Given the description of an element on the screen output the (x, y) to click on. 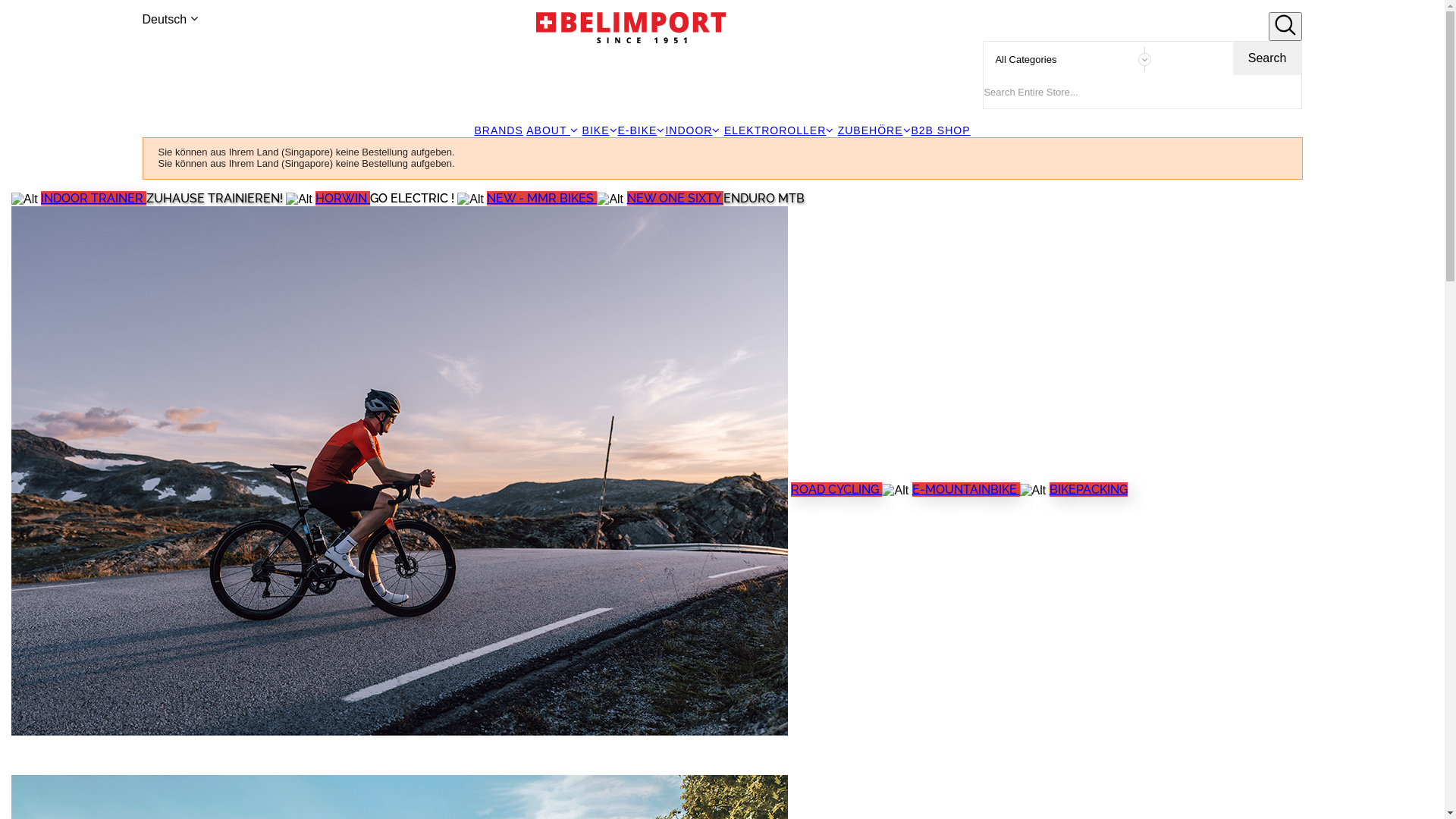
ELEKTROROLLER Element type: text (779, 129)
INDOOR Element type: text (692, 129)
Image Title Element type: hover (894, 490)
Image Title Element type: hover (470, 199)
E-BIKE Element type: text (641, 129)
BIKE Element type: text (600, 129)
BRANDS Element type: text (497, 130)
ABOUT Element type: text (552, 129)
Image Title Element type: hover (609, 199)
BIKEPACKING Element type: text (1088, 489)
E-MOUNTAINBIKE Element type: text (965, 489)
NEW ONE SIXTY Element type: text (674, 198)
Image Title Element type: hover (399, 490)
B2B SHOP Element type: text (940, 130)
NEW - MMR BIKES Element type: text (541, 198)
Search Element type: text (1267, 58)
HORWIN Element type: text (342, 198)
Image Title Element type: hover (1032, 490)
ROAD CYCLING Element type: text (835, 489)
Deutsch Element type: text (169, 19)
Image Title Element type: hover (298, 199)
Image Title Element type: hover (24, 199)
INDOOR TRAINER Element type: text (93, 198)
